Given the description of an element on the screen output the (x, y) to click on. 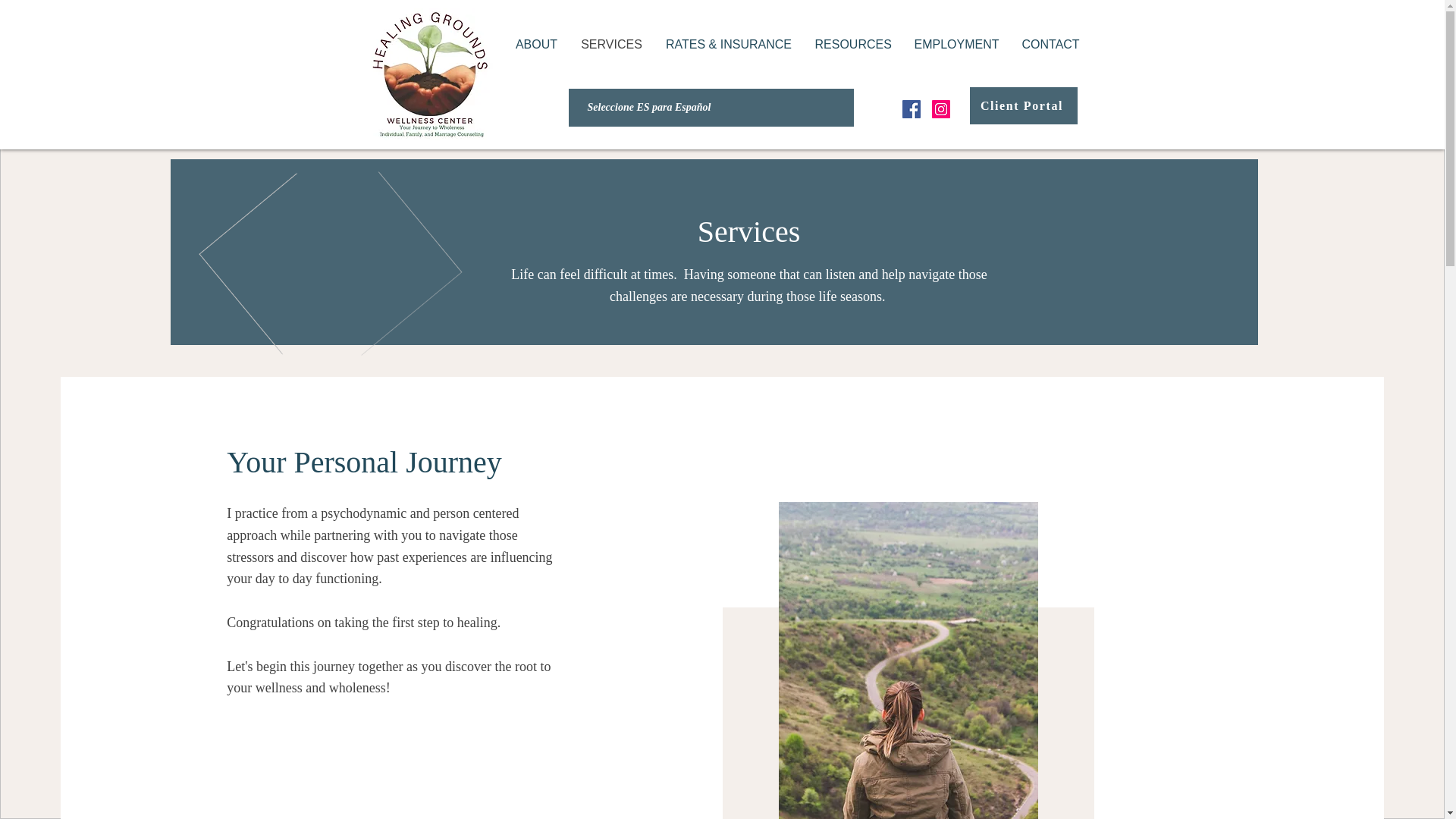
RESOURCES (852, 44)
Client Portal (1023, 105)
SERVICES (611, 44)
ABOUT (536, 44)
CONTACT (1050, 44)
EMPLOYMENT (956, 44)
